Given the description of an element on the screen output the (x, y) to click on. 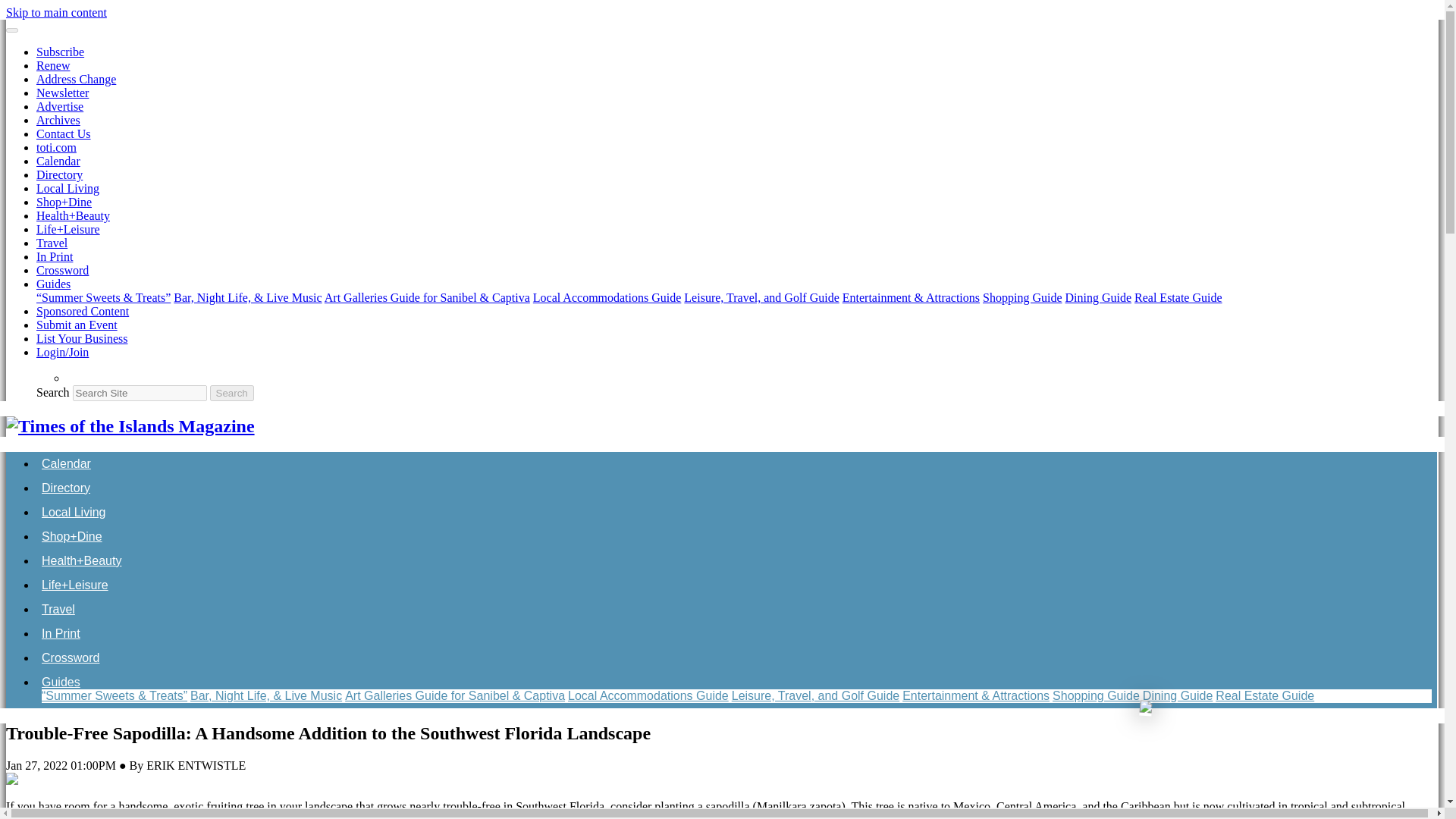
toti.com (56, 146)
Calendar (58, 160)
Search (231, 392)
Archives (58, 119)
Subscribe (60, 51)
Contact Us (63, 133)
Travel (51, 242)
Local Living (74, 512)
Leisure, Travel, and Golf Guide (761, 297)
Local Living (67, 187)
